Given the description of an element on the screen output the (x, y) to click on. 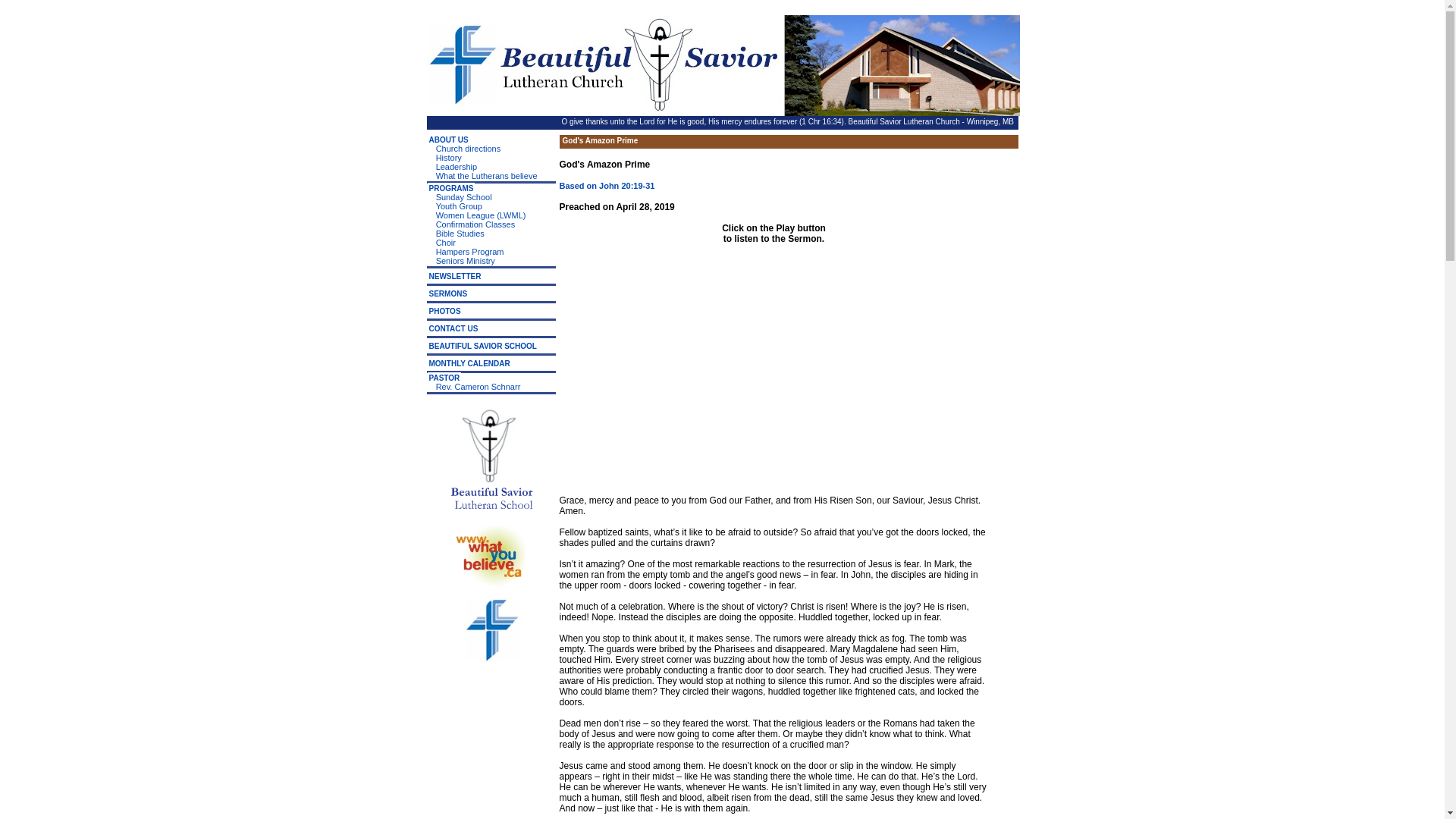
Bible Studies (459, 233)
Youth Group (458, 205)
Based on John 20:19-31 (607, 185)
What the Lutherans believe (486, 175)
Confirmation Classes (475, 224)
PASTOR (444, 378)
Sunday School (463, 196)
MONTHLY CALENDAR (470, 363)
CONTACT US (454, 328)
Leadership (456, 166)
